Given the description of an element on the screen output the (x, y) to click on. 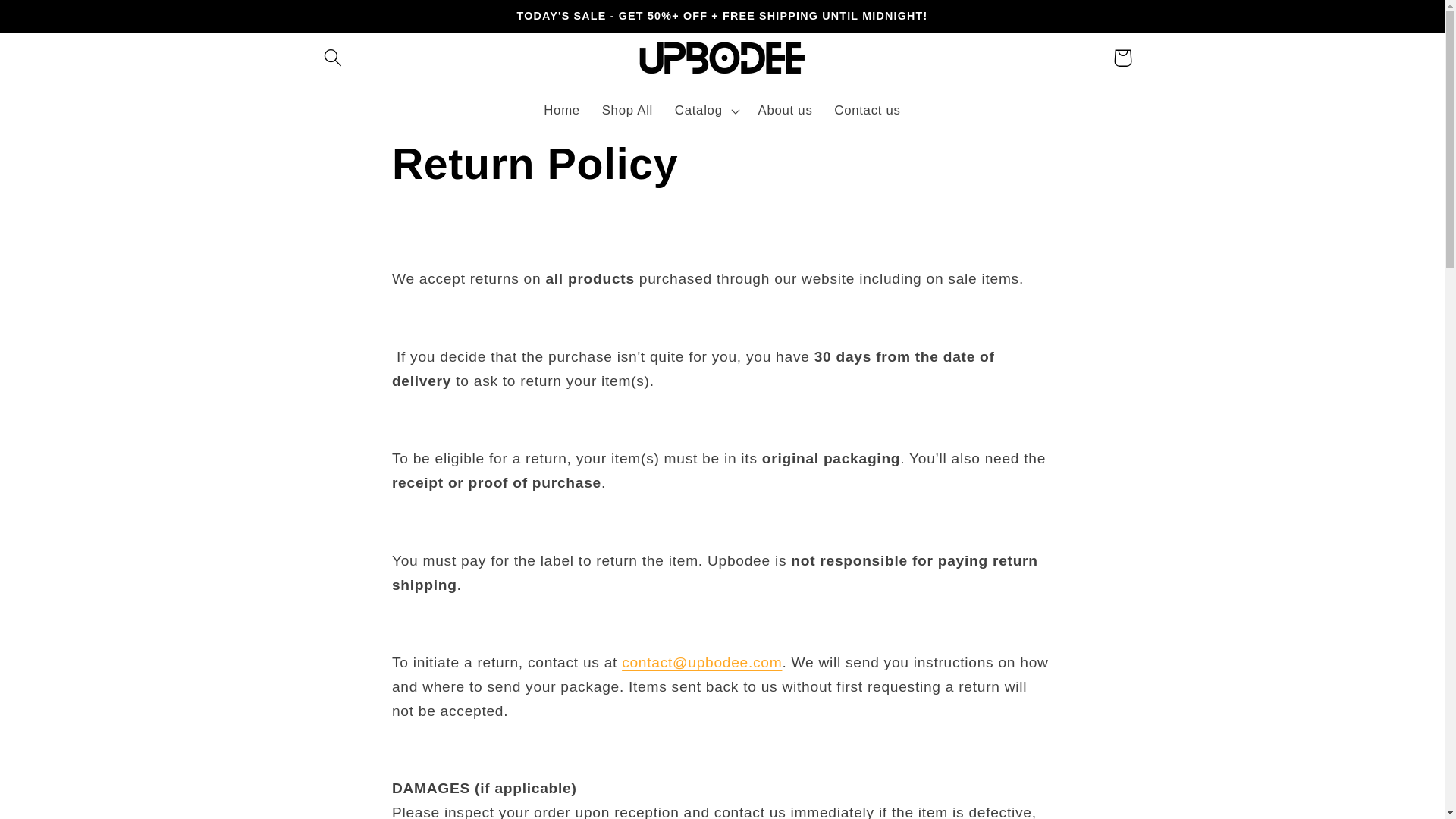
Shop All (627, 110)
Skip to content (53, 20)
Cart (1122, 57)
About us (785, 110)
Home (561, 110)
Contact us (867, 110)
